Given the description of an element on the screen output the (x, y) to click on. 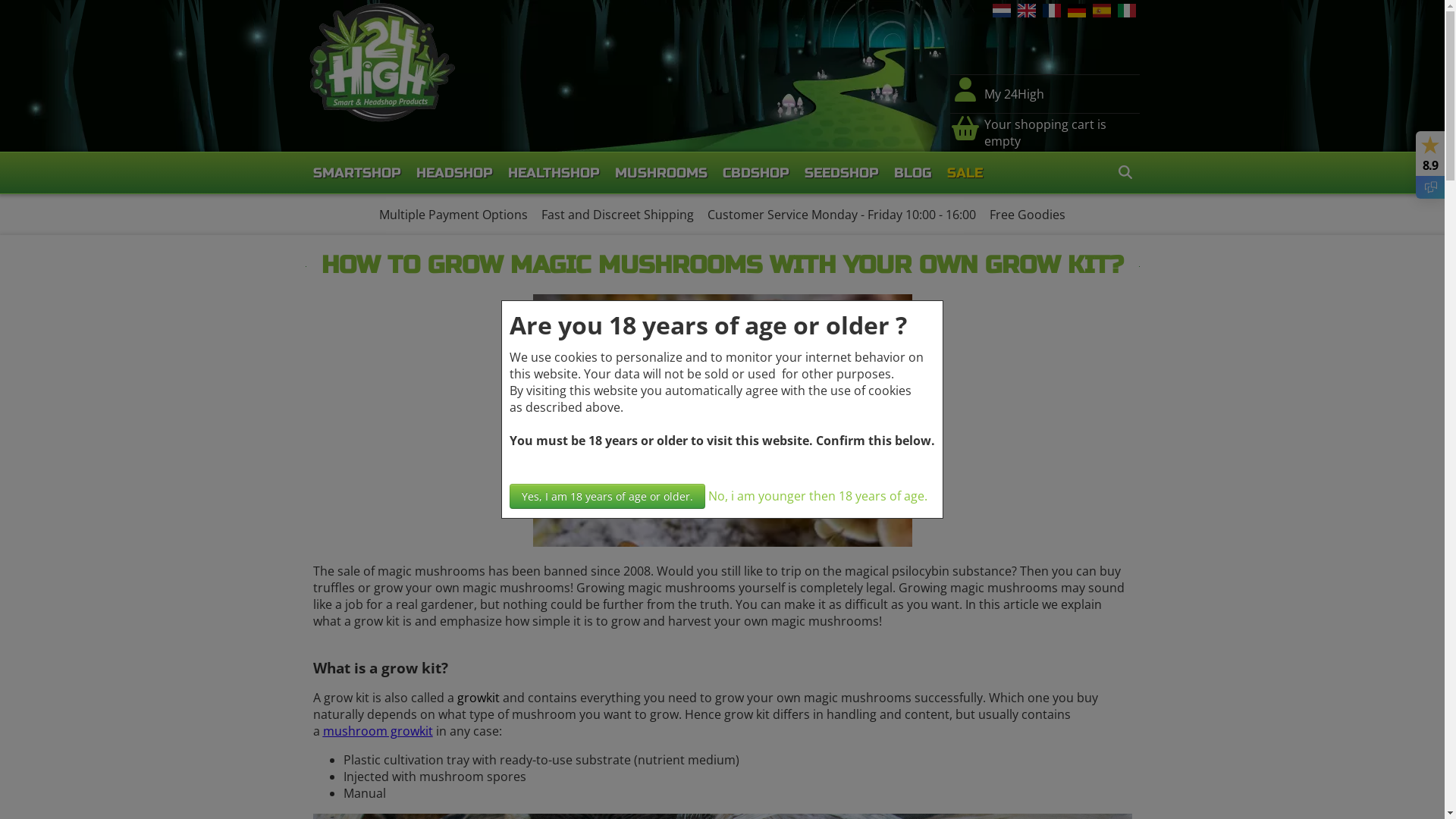
Deutsch Element type: hover (1078, 12)
HEALTHSHOP Element type: text (553, 172)
Your shopping cart is empty Element type: text (1059, 132)
BLOG Element type: text (912, 172)
English Element type: hover (1028, 12)
Italiano Element type: hover (1128, 12)
No, i am younger then 18 years of age. Element type: text (817, 495)
My 24High Element type: text (1013, 93)
SEEDSHOP Element type: text (840, 172)
SALE Element type: text (964, 172)
mushroom growkit Element type: text (378, 730)
MUSHROOMS Element type: text (660, 172)
HEADSHOP Element type: text (453, 172)
Yes, I am 18 years of age or older. Element type: text (607, 495)
SMARTSHOP Element type: text (356, 172)
Francais Element type: hover (1052, 12)
Nederlands Element type: hover (1002, 12)
8.9 Element type: text (1429, 164)
CBDSHOP Element type: text (754, 172)
